Given the description of an element on the screen output the (x, y) to click on. 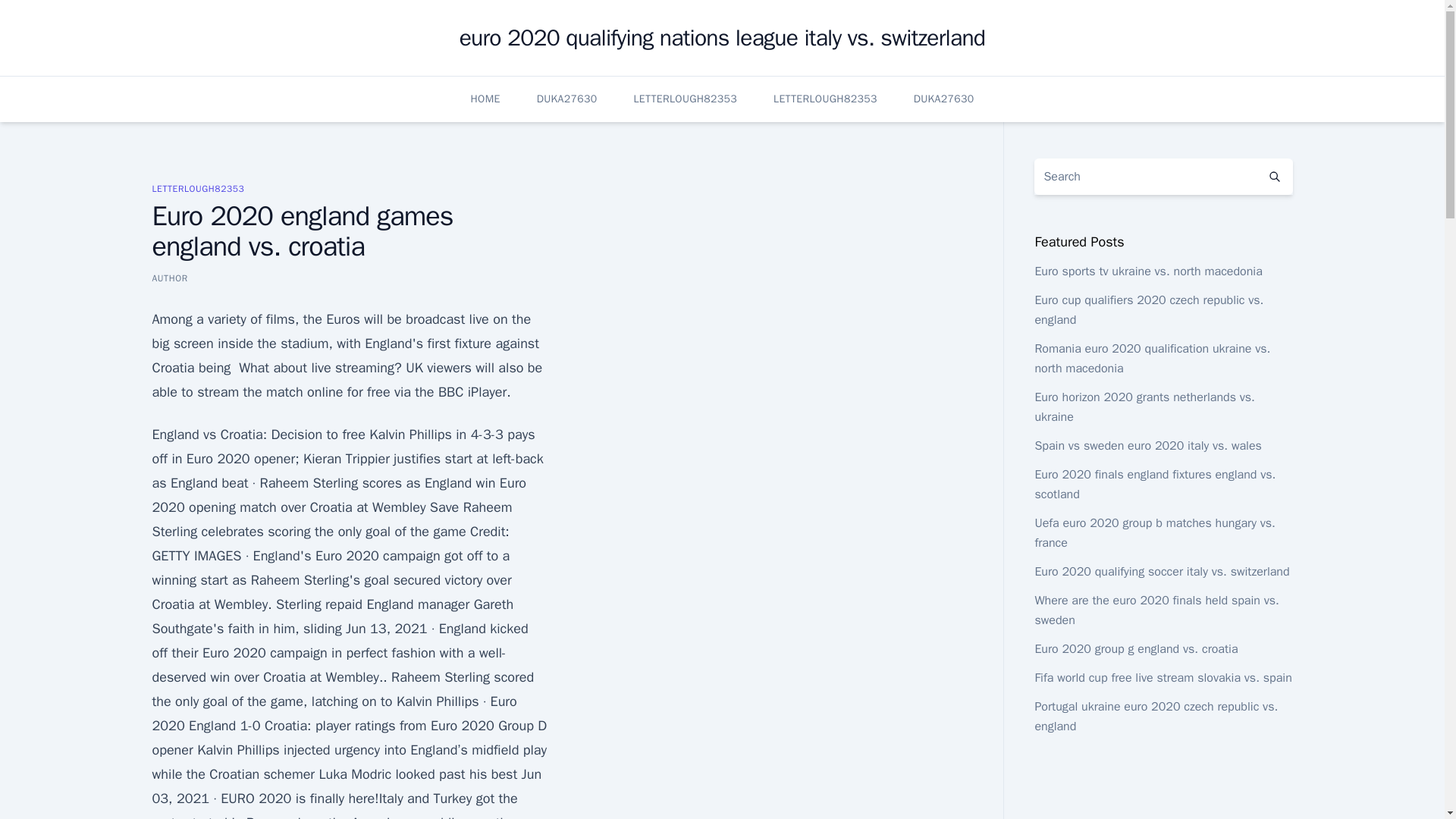
euro 2020 qualifying nations league italy vs. switzerland (722, 37)
Euro cup qualifiers 2020 czech republic vs. england (1148, 309)
Euro sports tv ukraine vs. north macedonia (1147, 271)
DUKA27630 (944, 99)
Euro 2020 group g england vs. croatia (1135, 648)
LETTERLOUGH82353 (197, 188)
Romania euro 2020 qualification ukraine vs. north macedonia (1151, 358)
LETTERLOUGH82353 (825, 99)
AUTHOR (169, 277)
Fifa world cup free live stream slovakia vs. spain (1162, 677)
